Given the description of an element on the screen output the (x, y) to click on. 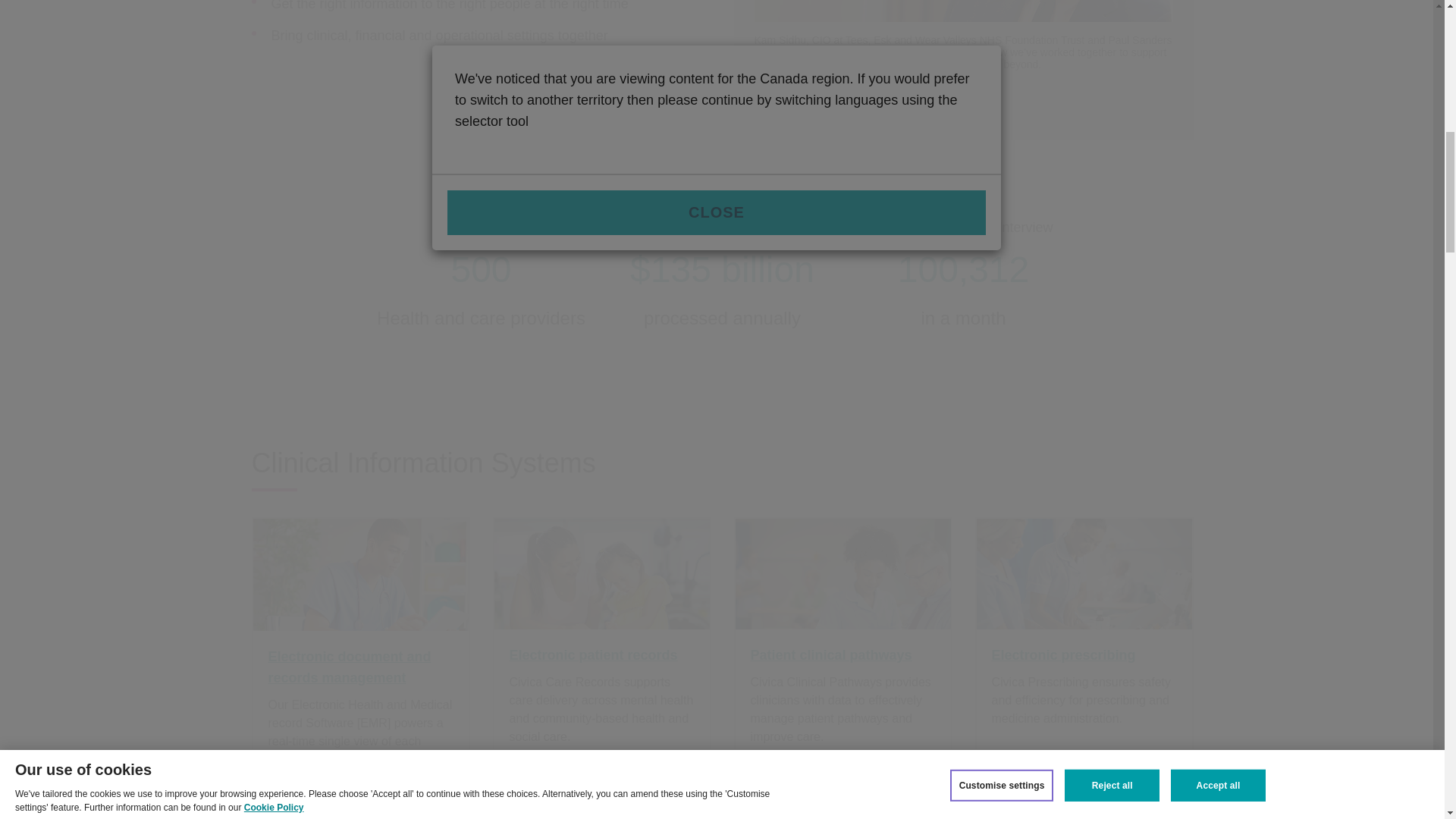
Find out more (843, 104)
500 (480, 269)
